Given the description of an element on the screen output the (x, y) to click on. 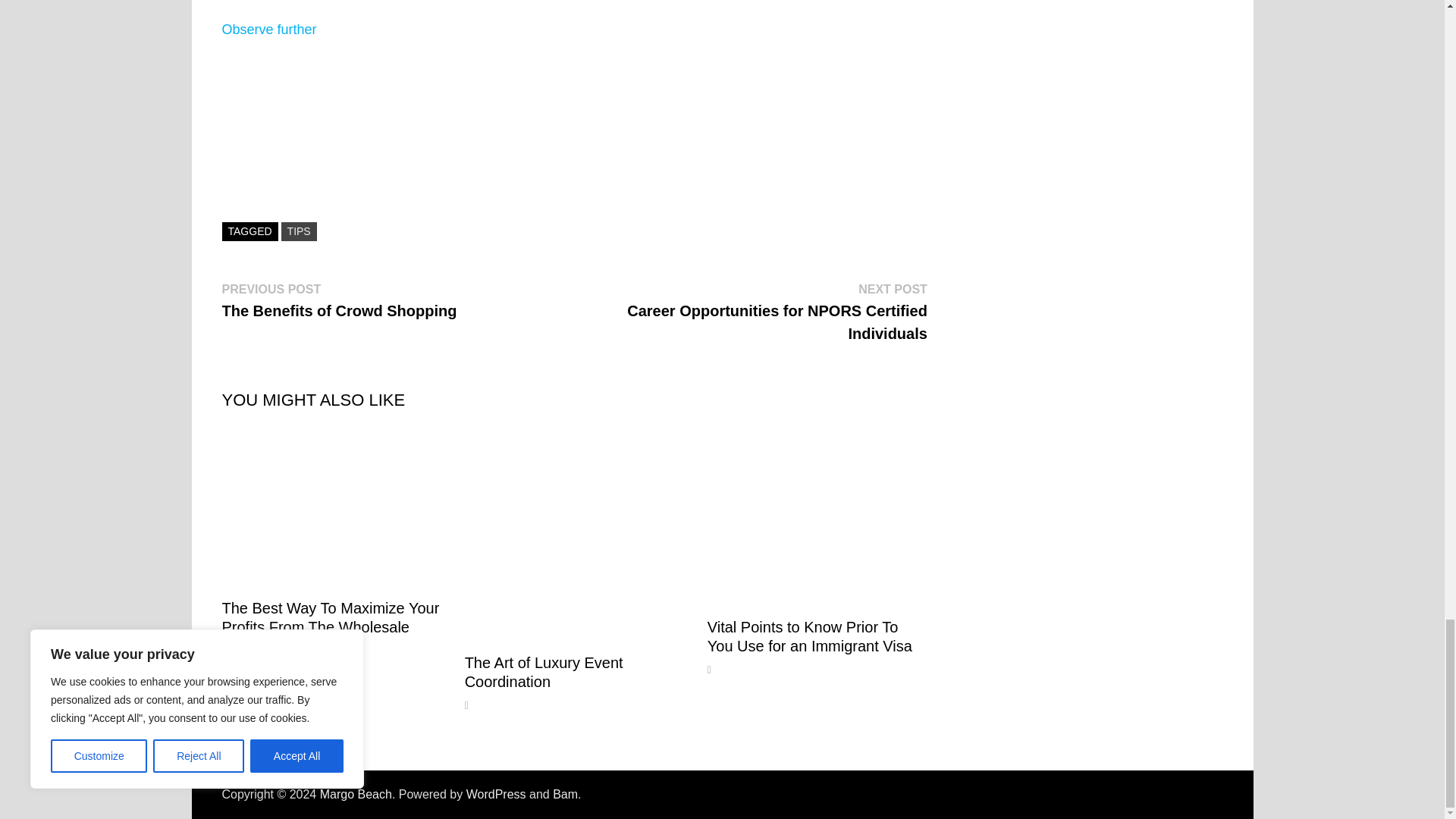
Vital Points to Know Prior To You Use for an Immigrant Visa (809, 636)
Observe further (339, 300)
The Art of Luxury Event Coordination (268, 29)
The Art of Luxury Event Coordination (543, 672)
Margo Beach (543, 672)
TIPS (355, 793)
